Given the description of an element on the screen output the (x, y) to click on. 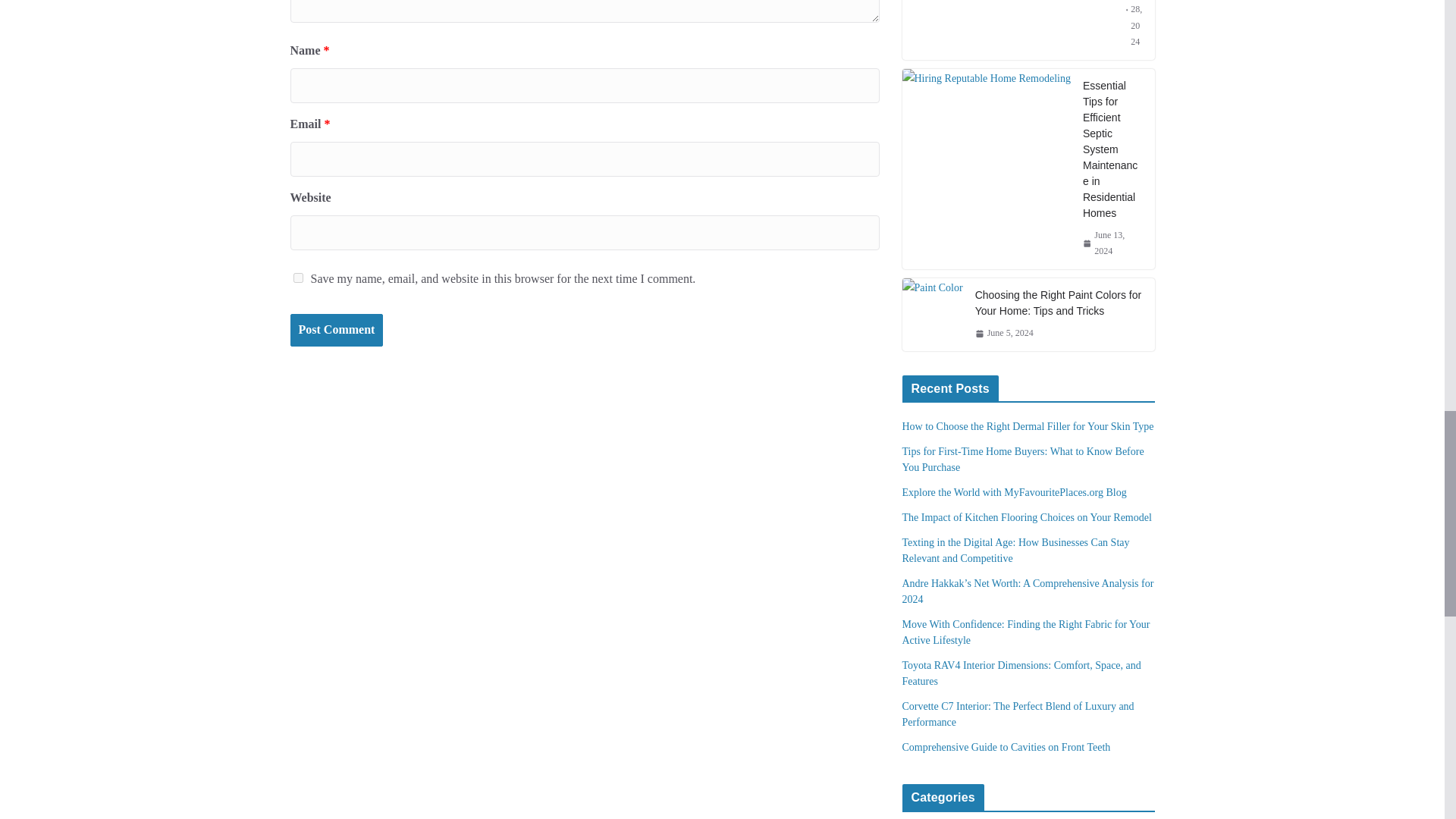
yes (297, 277)
Post Comment (335, 329)
Post Comment (335, 329)
